Given the description of an element on the screen output the (x, y) to click on. 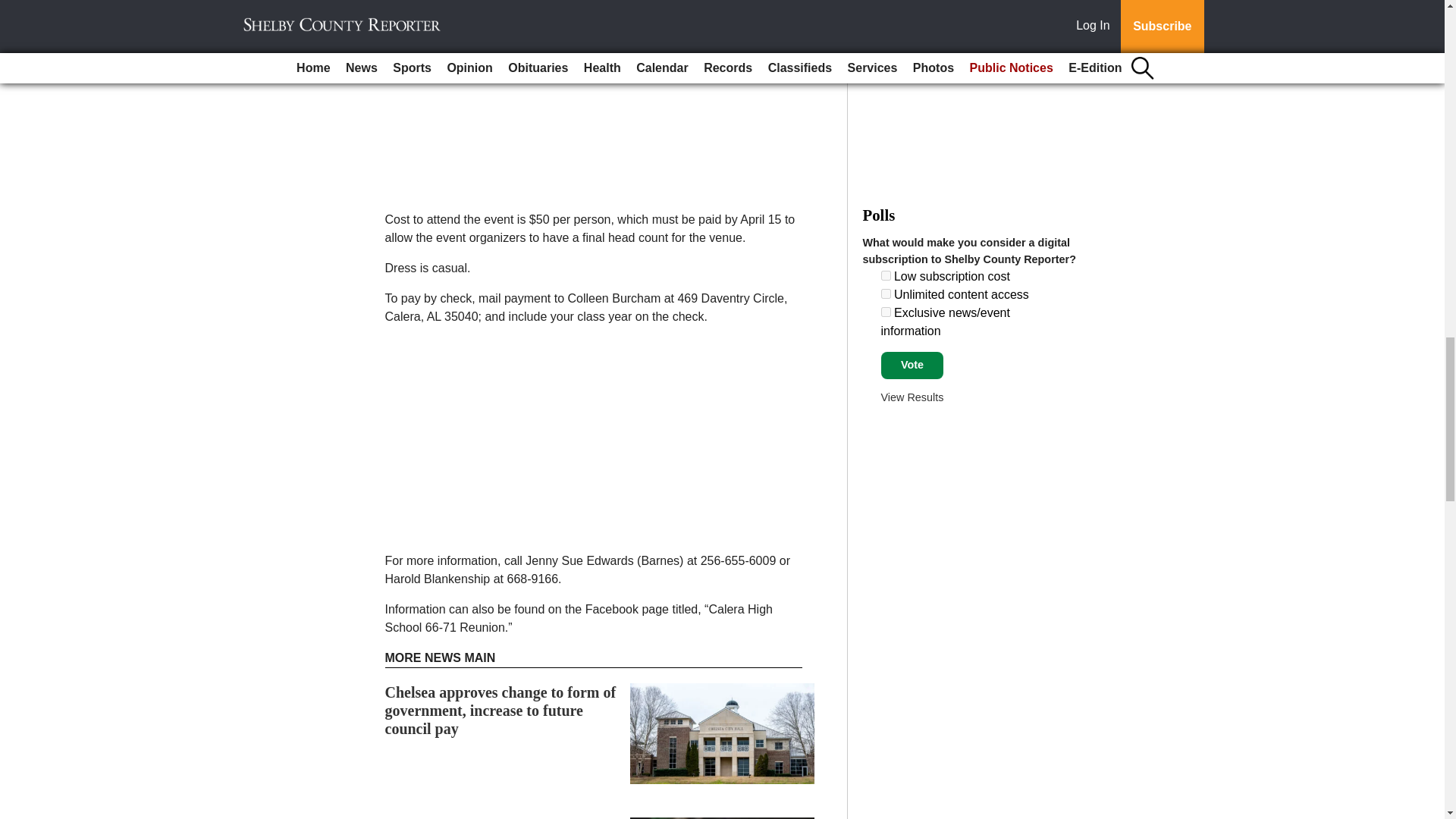
   Vote    (911, 365)
4638 (885, 311)
4636 (885, 275)
4637 (885, 293)
View Results Of This Poll (911, 397)
